Given the description of an element on the screen output the (x, y) to click on. 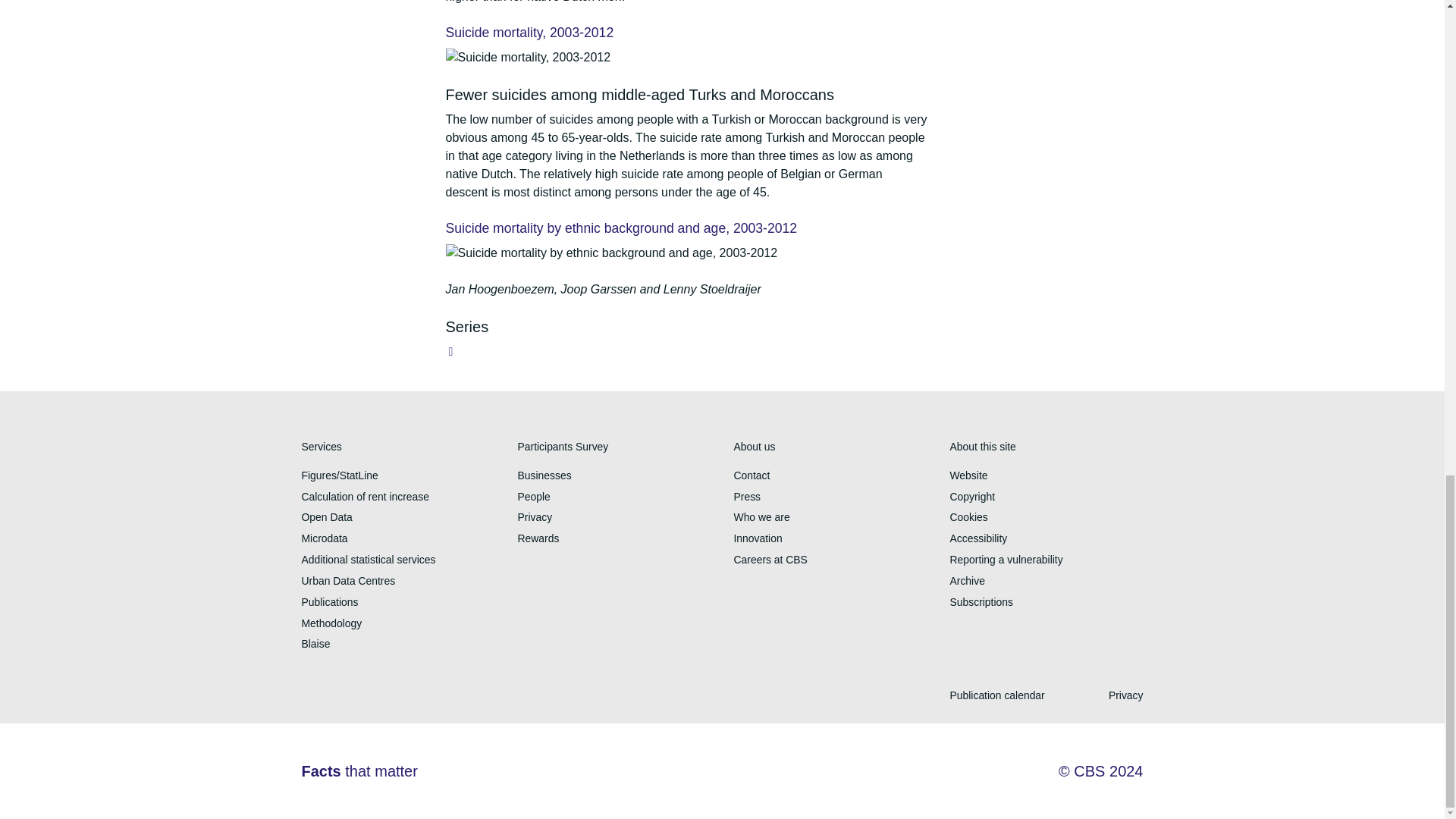
X (312, 699)
